Given the description of an element on the screen output the (x, y) to click on. 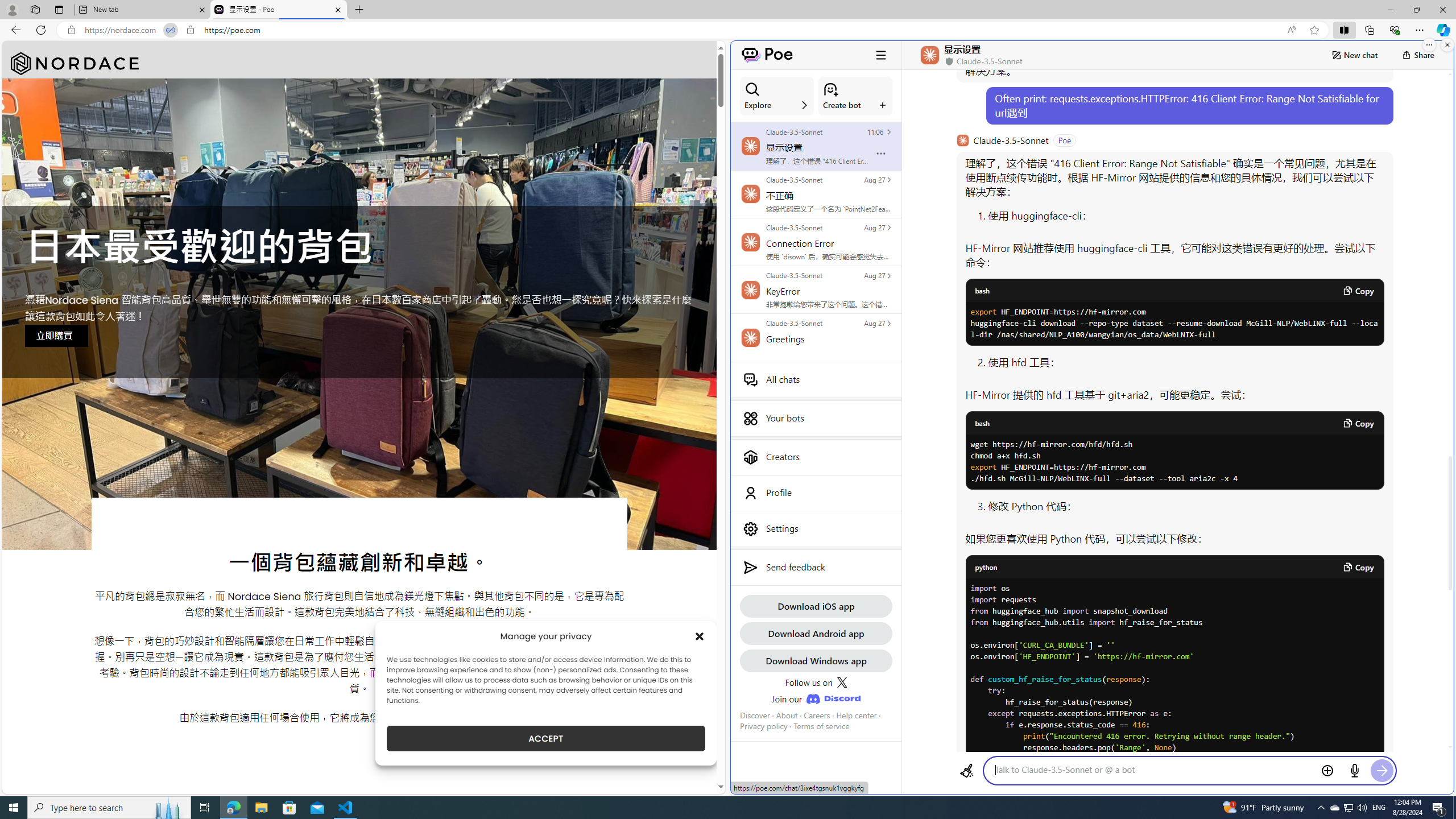
Class: ManageBotsCardSection_createBotIcon__9JUYg (830, 89)
More actions (880, 152)
Back (13, 29)
Class: ToggleSidebarCollapseButton_hamburgerIcon__VuiyV (880, 55)
Add this page to favorites (Ctrl+D) (1314, 29)
Collections (1369, 29)
Download iOS app (815, 605)
App bar (728, 29)
New Tab (358, 9)
Nordace (74, 63)
Restore (1416, 9)
